Given the description of an element on the screen output the (x, y) to click on. 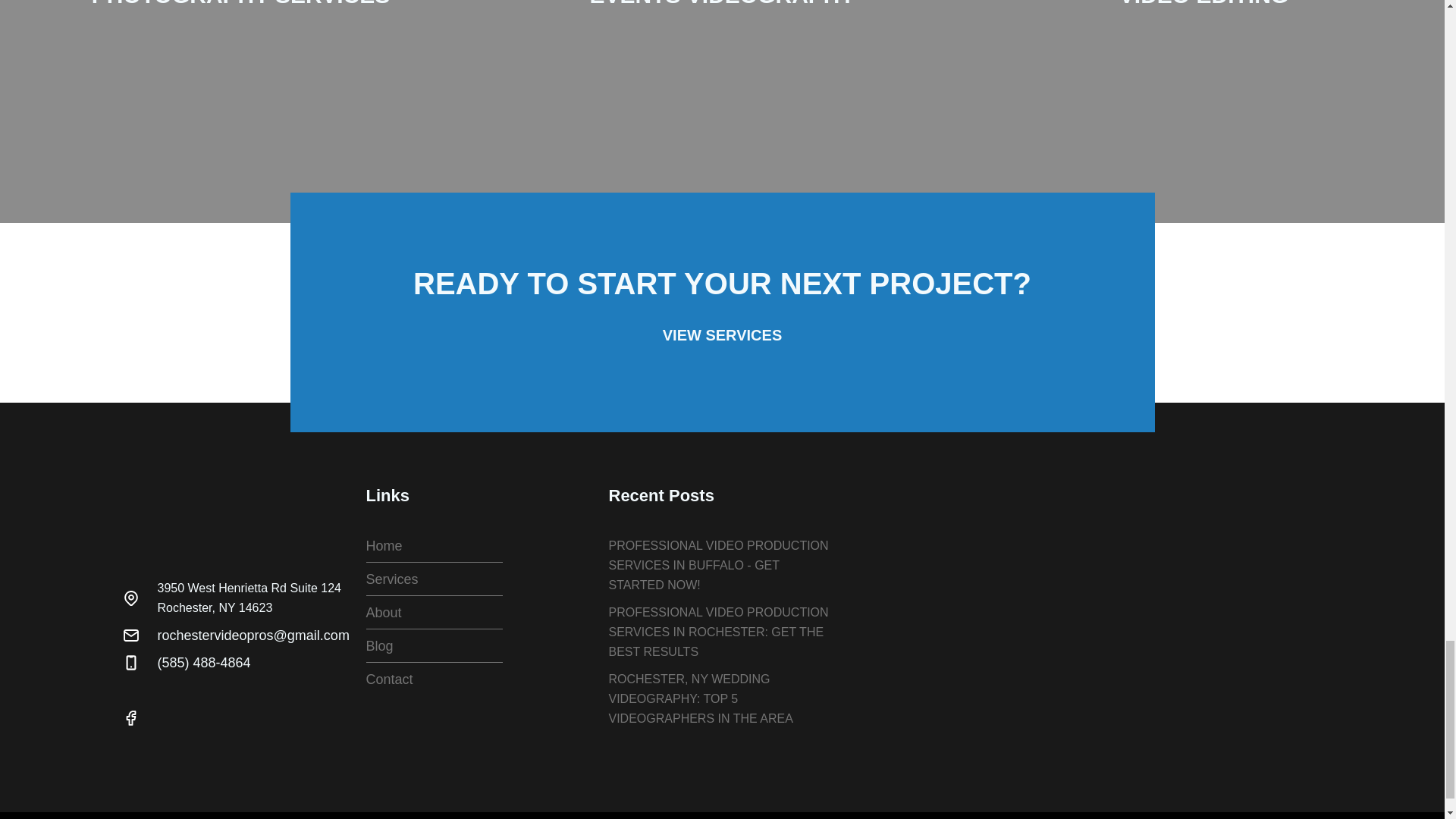
3950 West Henrietta Rd Suite 124 Rochester, NY 14623 (1085, 606)
